Given the description of an element on the screen output the (x, y) to click on. 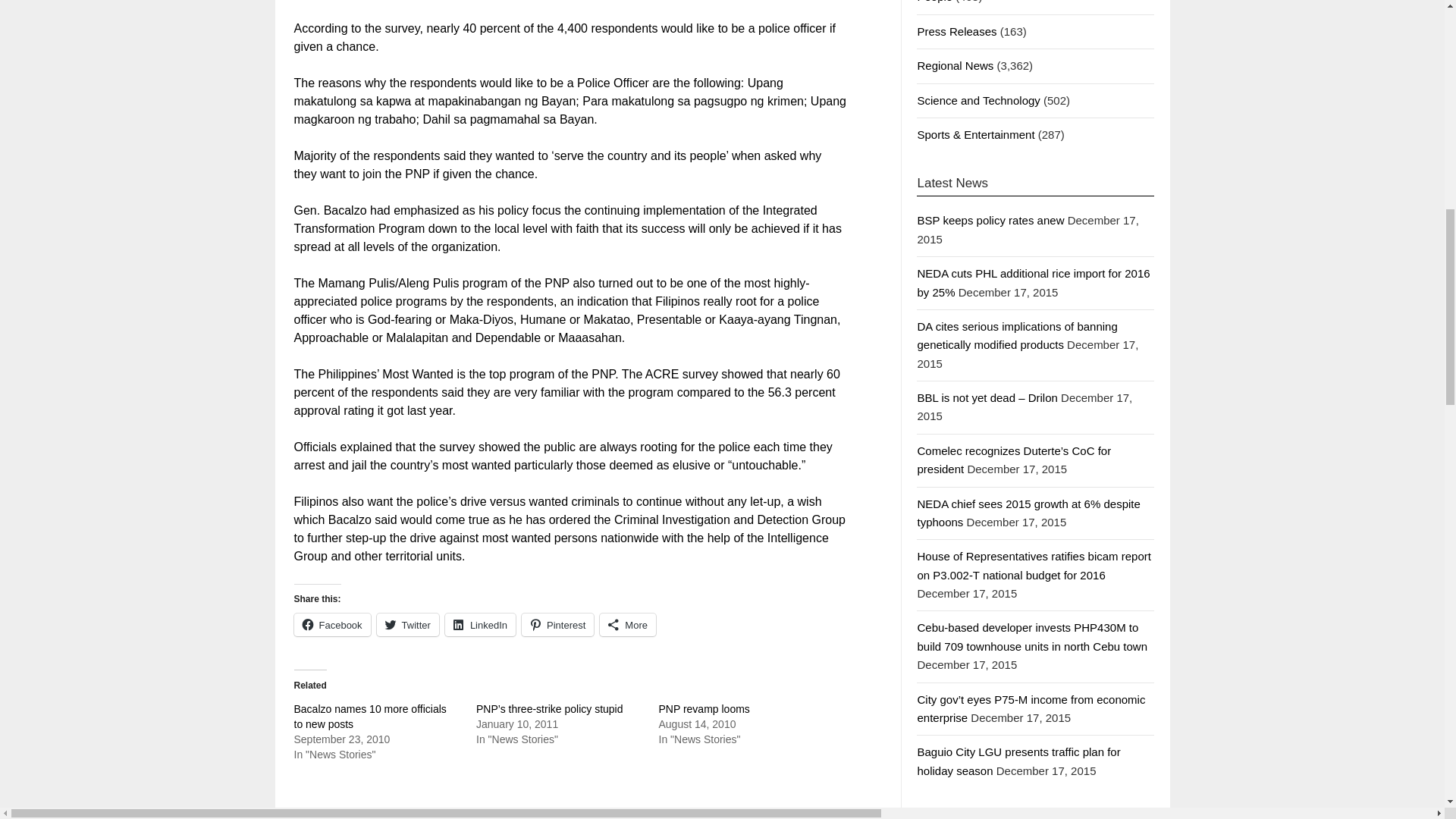
Pinterest (557, 624)
Bacalzo names 10 more officials to new posts (370, 716)
LinkedIn (480, 624)
Click to share on Pinterest (557, 624)
Click to share on Facebook (332, 624)
PNP revamp looms (703, 708)
More (627, 624)
Facebook (332, 624)
Twitter (408, 624)
Bacalzo names 10 more officials to new posts (370, 716)
PNP revamp looms (703, 708)
Click to share on Twitter (408, 624)
Regional News (954, 65)
Science and Technology (978, 100)
People (934, 1)
